Given the description of an element on the screen output the (x, y) to click on. 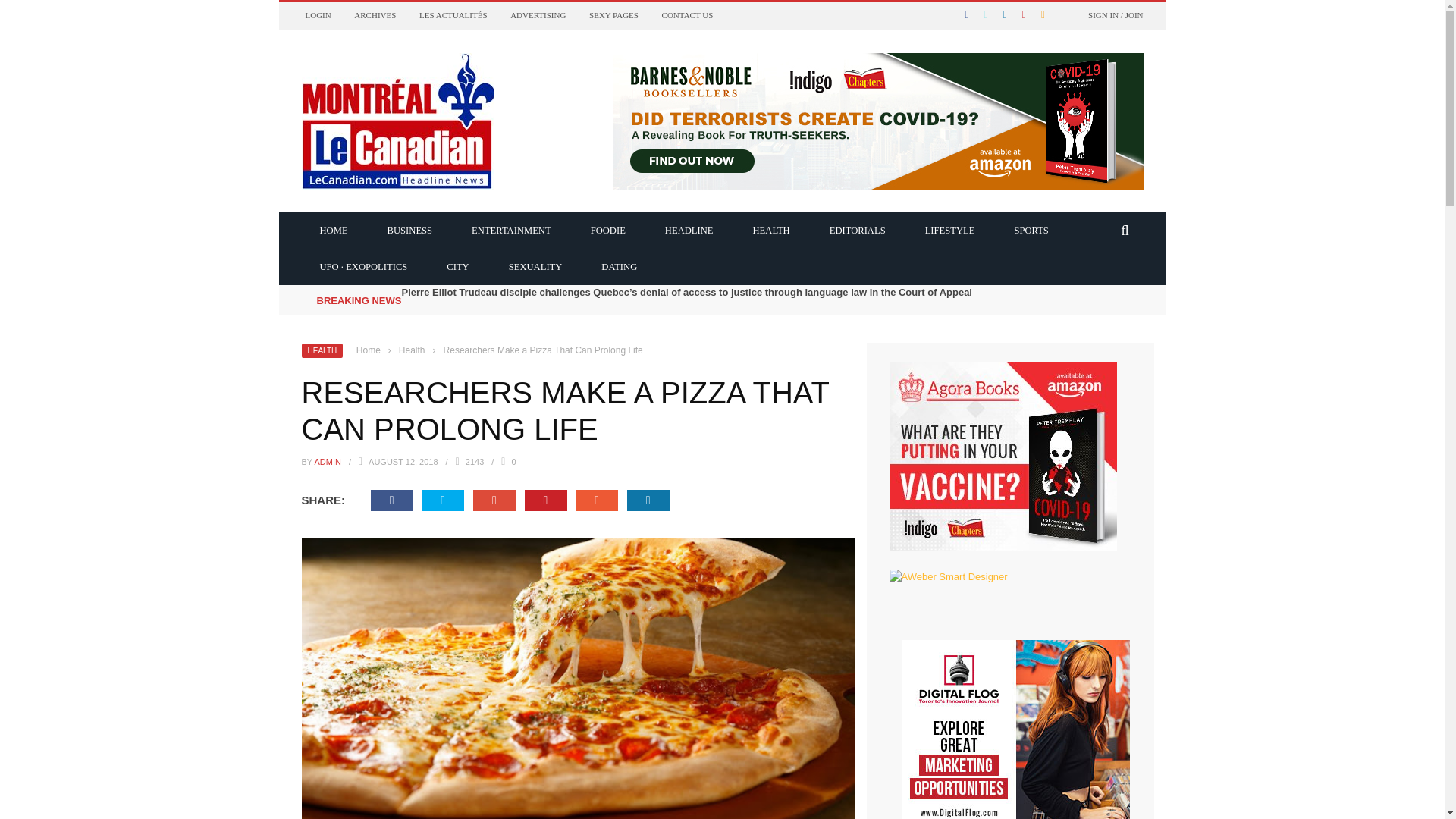
CONTACT US (687, 14)
Facebook (392, 500)
Pinterest (545, 500)
Google Plus (494, 500)
ENTERTAINMENT (510, 229)
ADVERTISING (538, 14)
FOODIE (607, 229)
Stumbleupon (596, 500)
BUSINESS (410, 229)
ARCHIVES (374, 14)
Linkedin (648, 500)
SEXY PAGES (614, 14)
HEADLINE (689, 229)
LOGIN (317, 14)
Twitter (443, 500)
